Given the description of an element on the screen output the (x, y) to click on. 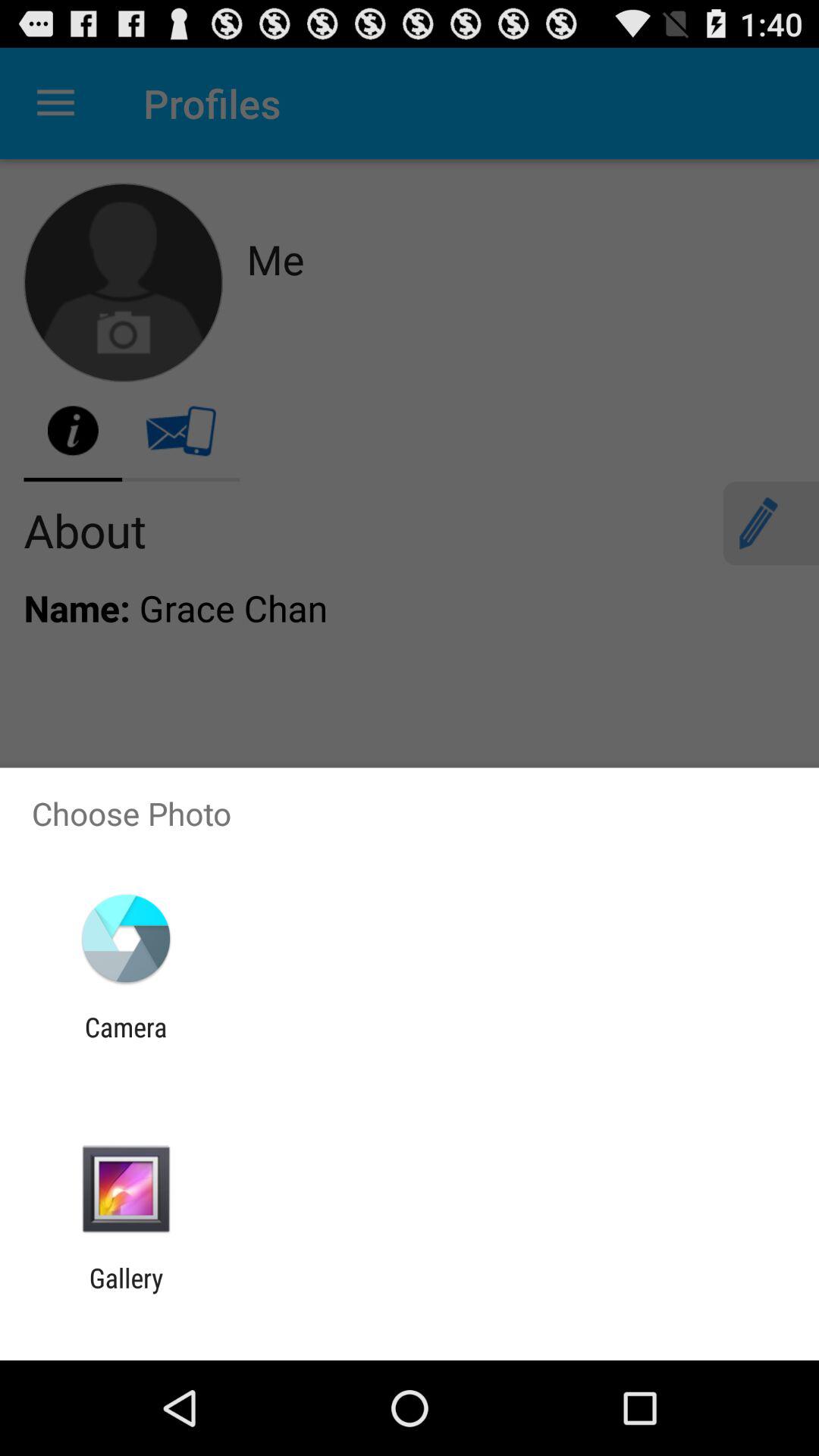
swipe to camera item (125, 1042)
